Given the description of an element on the screen output the (x, y) to click on. 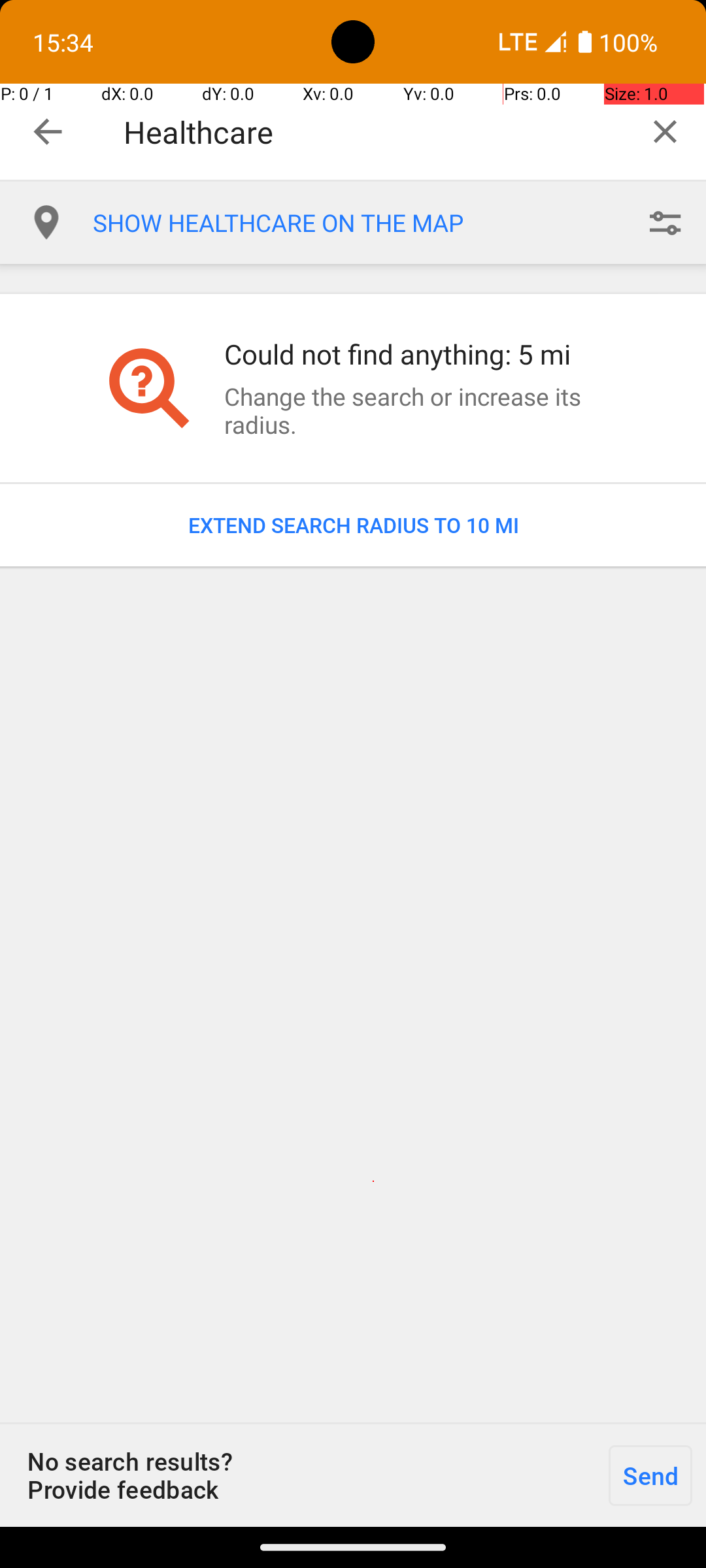
No search results?
Provide feedback Element type: android.widget.TextView (297, 1475)
Healthcare  Element type: android.widget.EditText (373, 131)
SHOW HEALTHCARE ON THE MAP Element type: android.widget.TextView (357, 222)
Custom filter Element type: android.widget.ImageButton (664, 222)
Send Element type: android.widget.TextView (650, 1475)
Could not find anything: 5 mi Element type: android.widget.TextView (414, 353)
Change the search or increase its radius. Element type: android.widget.TextView (414, 410)
EXTEND SEARCH RADIUS TO 10 MI Element type: android.widget.TextView (352, 524)
